Given the description of an element on the screen output the (x, y) to click on. 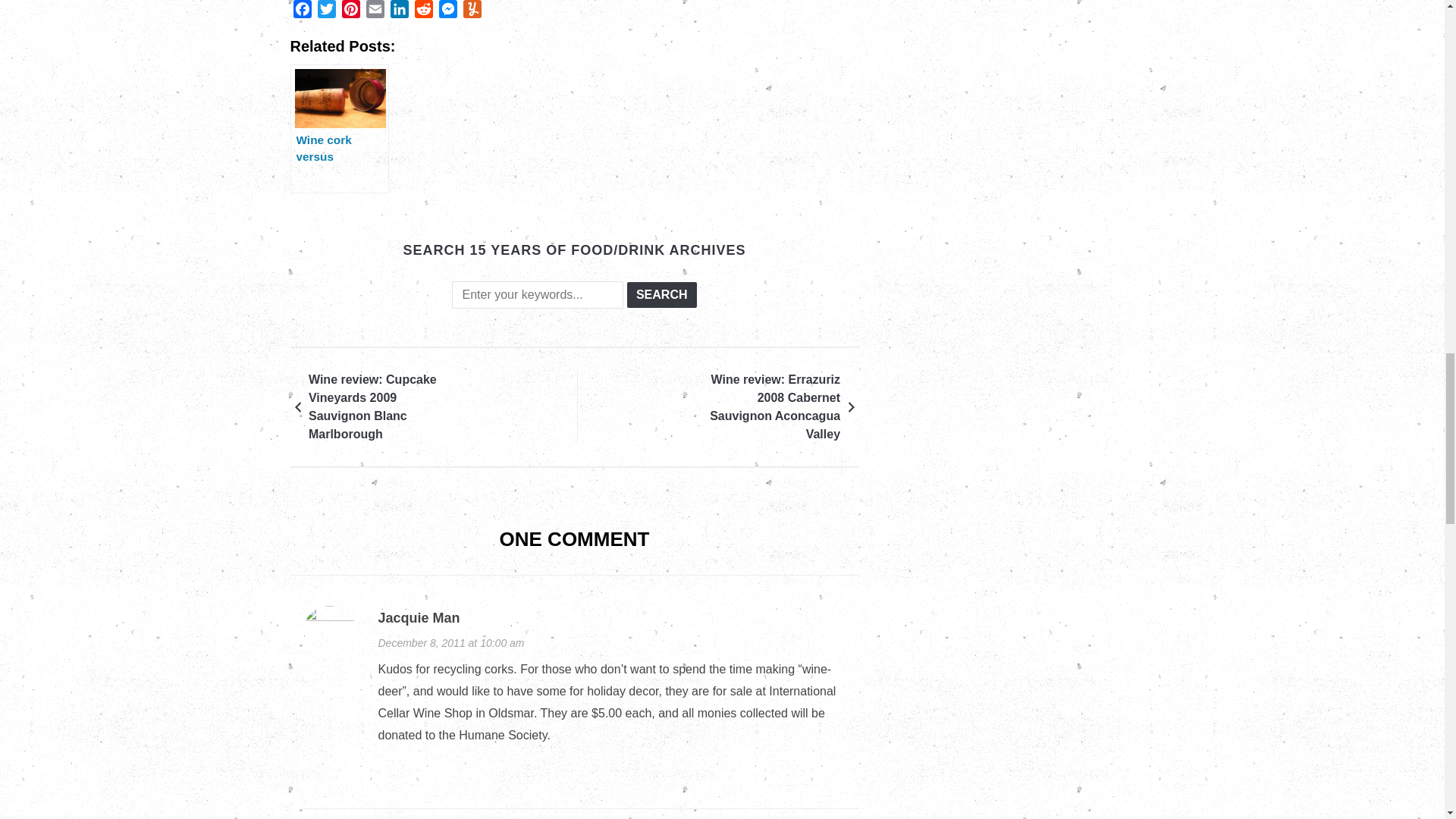
Search (662, 294)
Facebook (301, 11)
Pinterest (349, 11)
Yummly (471, 11)
Messenger (447, 11)
Search (662, 294)
LinkedIn (398, 11)
Email (374, 11)
Twitter (325, 11)
Reddit (422, 11)
